Given the description of an element on the screen output the (x, y) to click on. 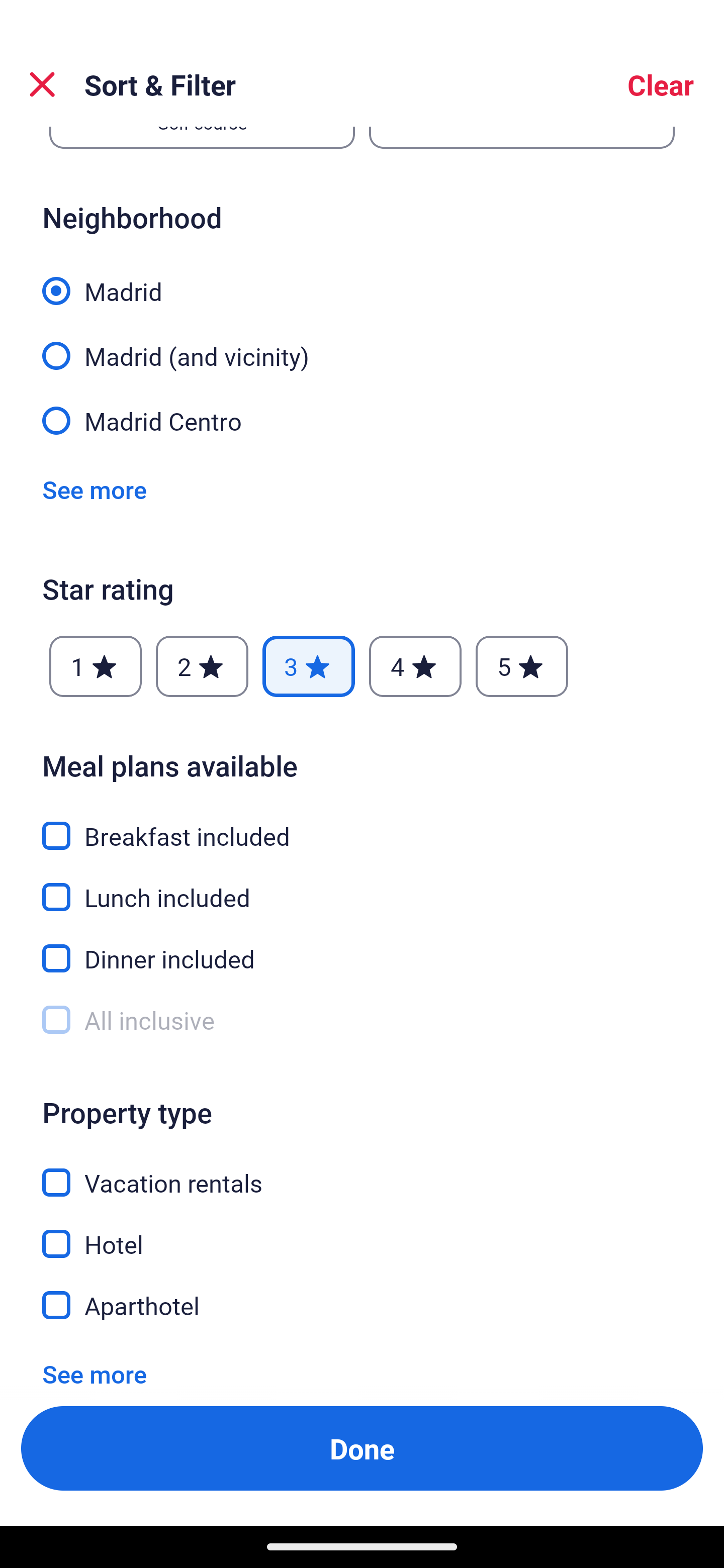
Close Sort and Filter (42, 84)
Clear (660, 84)
Madrid (and vicinity) (361, 344)
Madrid Centro (361, 419)
See more See more neighborhoods Link (93, 488)
1 (95, 666)
2 (201, 666)
3 (308, 666)
4 (415, 666)
5 (521, 666)
Breakfast included, Breakfast included (361, 824)
Lunch included, Lunch included (361, 886)
Dinner included, Dinner included (361, 947)
All inclusive, All inclusive (361, 1020)
Vacation rentals, Vacation rentals (361, 1171)
Hotel, Hotel (361, 1232)
Aparthotel, Aparthotel (361, 1305)
See more See more property types Link (93, 1368)
Apply and close Sort and Filter Done (361, 1448)
